Given the description of an element on the screen output the (x, y) to click on. 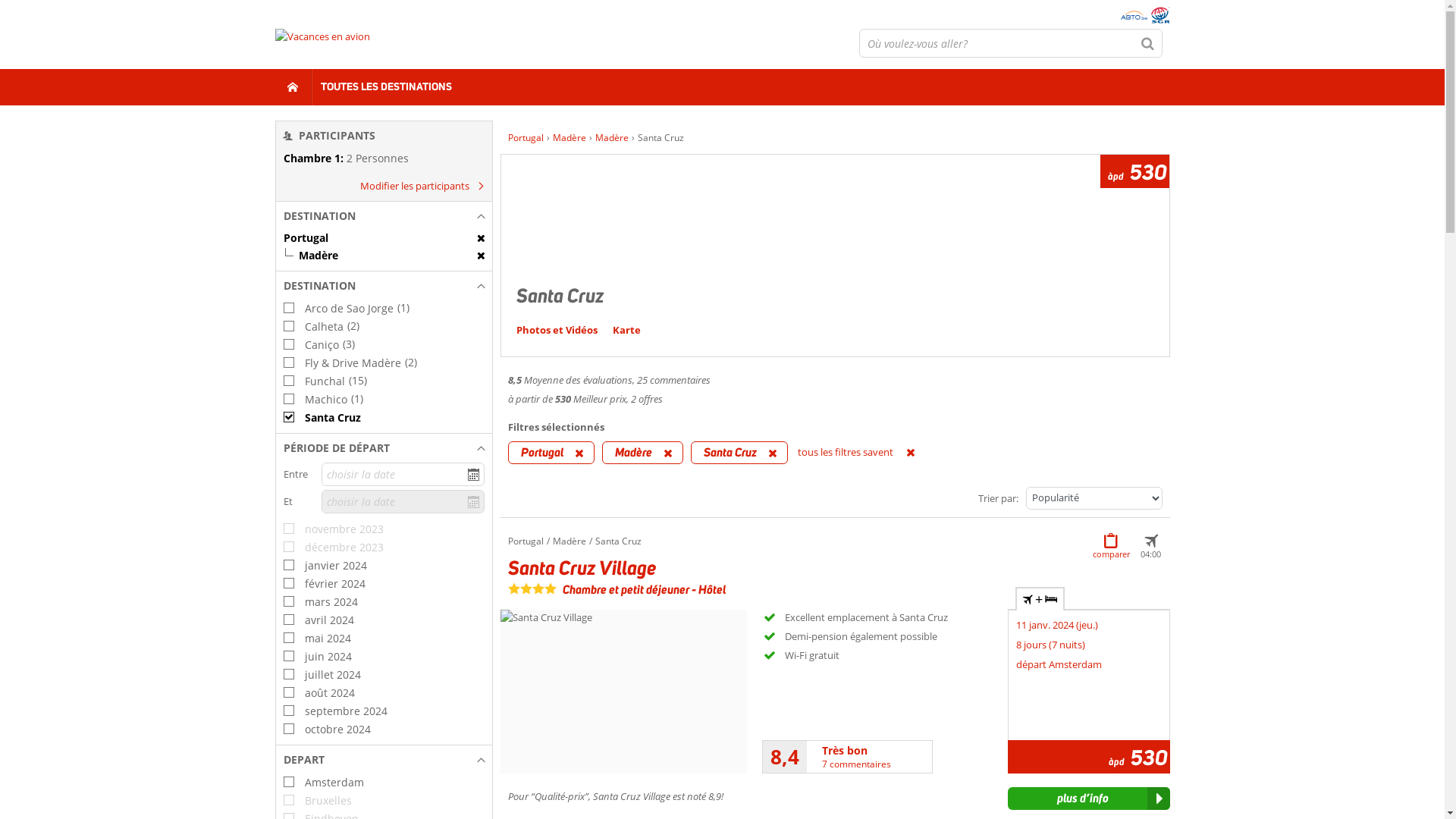
Santa Cruz Element type: text (738, 452)
Karte Element type: text (626, 329)
Vacances en avion Element type: hover (321, 42)
Portugal Element type: text (384, 237)
tous les filtres savent Element type: text (867, 451)
Accueil Element type: text (523, 137)
Home Element type: hover (292, 87)
Santa Cruz Village Element type: text (581, 567)
Modifier les participants Element type: text (418, 185)
TOUTES LES DESTINATIONS Element type: text (386, 87)
Portugal Element type: text (551, 452)
Santa Cruz Element type: text (384, 417)
Portugal Element type: text (525, 137)
